Given the description of an element on the screen output the (x, y) to click on. 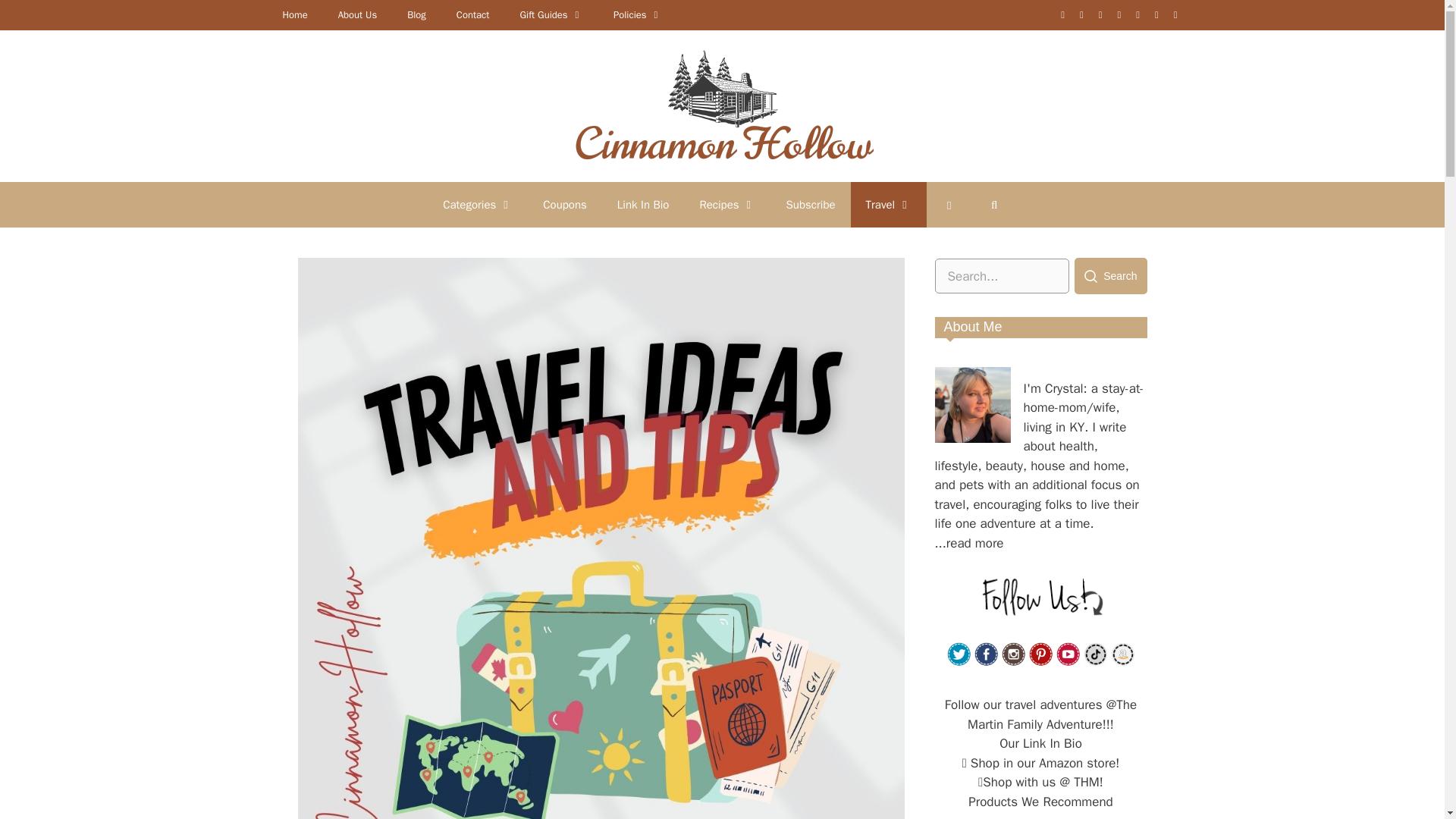
Coupons (564, 204)
Blog (416, 15)
Gift Guides (549, 15)
Contact (473, 15)
Home (293, 15)
Categories (477, 204)
Recipes (727, 204)
About Us (357, 15)
Contact (473, 15)
Link In Bio (643, 204)
